Given the description of an element on the screen output the (x, y) to click on. 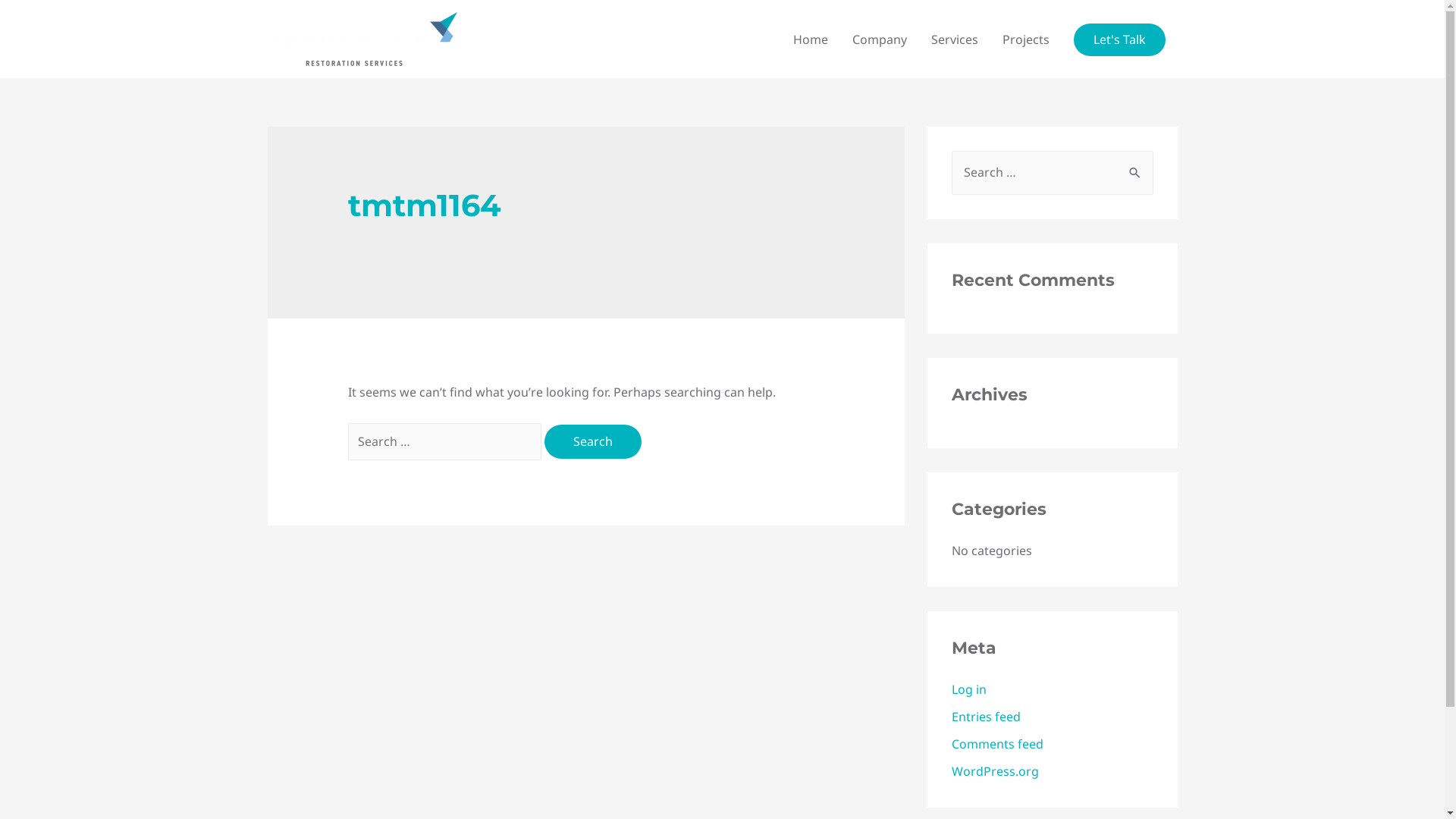
Projects Element type: text (1025, 39)
Search Element type: text (592, 441)
Services Element type: text (954, 39)
Home Element type: text (810, 39)
Company Element type: text (879, 39)
Entries feed Element type: text (984, 716)
Let's Talk Element type: text (1119, 39)
Search Element type: text (1136, 171)
Log in Element type: text (967, 688)
Let's Talk Element type: text (1119, 39)
WordPress.org Element type: text (994, 770)
Comments feed Element type: text (996, 743)
